Given the description of an element on the screen output the (x, y) to click on. 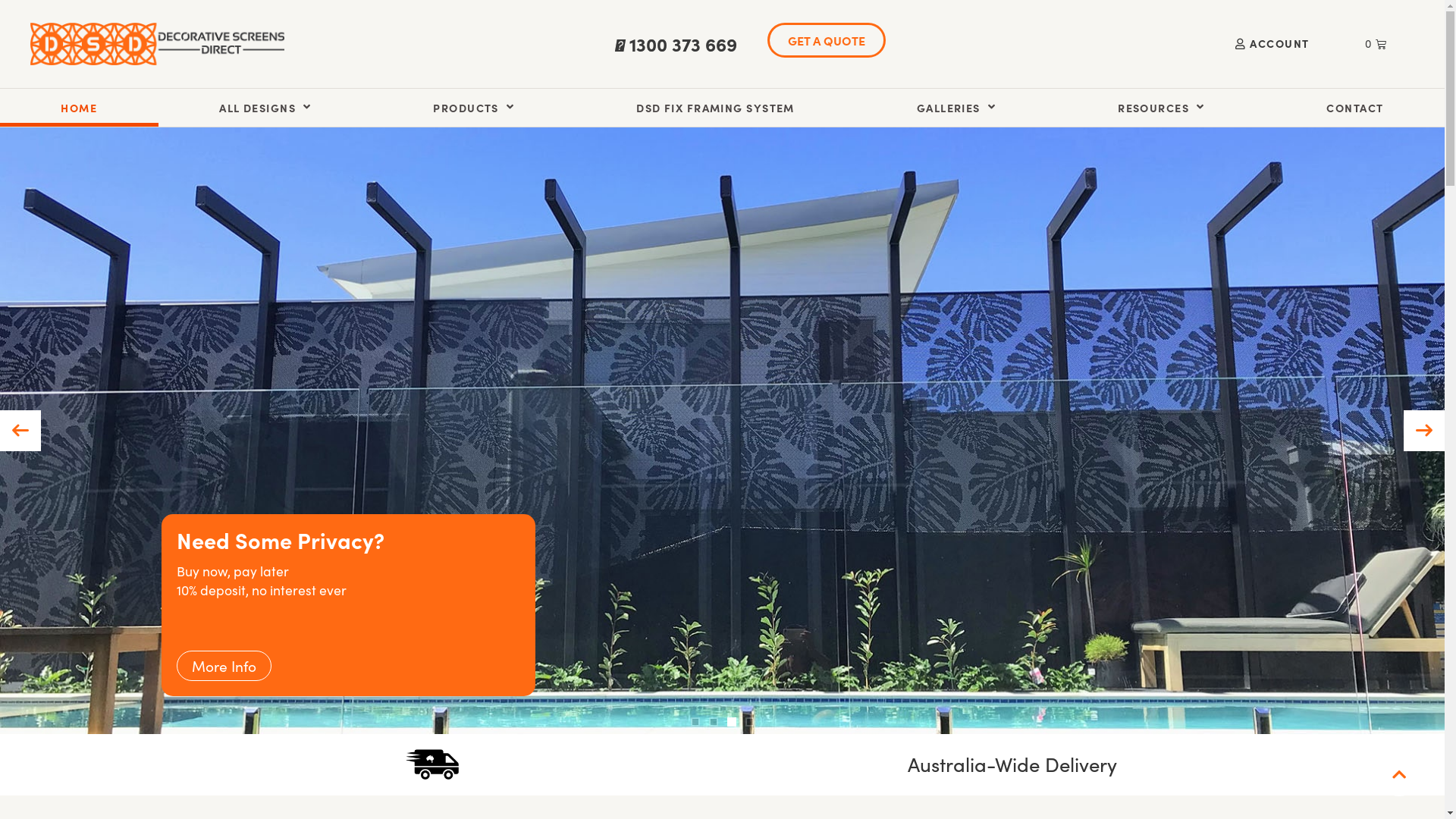
Decorative Screens Direct Element type: hover (157, 43)
1300 373 669 Element type: text (683, 43)
ACCOUNT Element type: text (1272, 43)
RESOURCES Element type: text (1161, 106)
0 Element type: text (1375, 43)
HOME Element type: text (79, 106)
CONTACT Element type: text (1354, 106)
DSD FIX FRAMING SYSTEM Element type: text (715, 106)
GET A QUOTE Element type: text (826, 39)
PRODUCTS Element type: text (473, 106)
ALL DESIGNS Element type: text (265, 106)
GALLERIES Element type: text (955, 106)
